Given the description of an element on the screen output the (x, y) to click on. 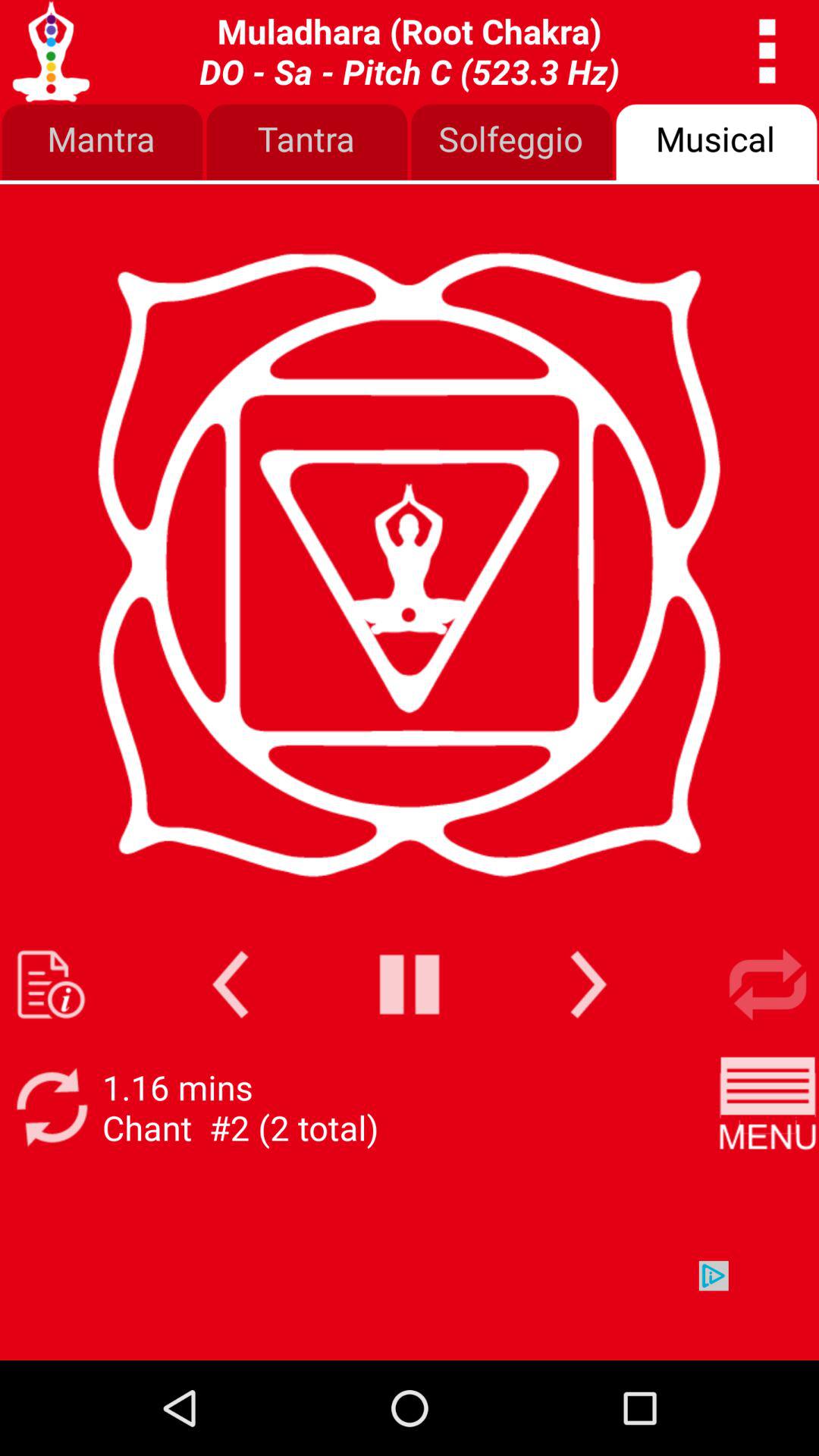
pause option (409, 984)
